Given the description of an element on the screen output the (x, y) to click on. 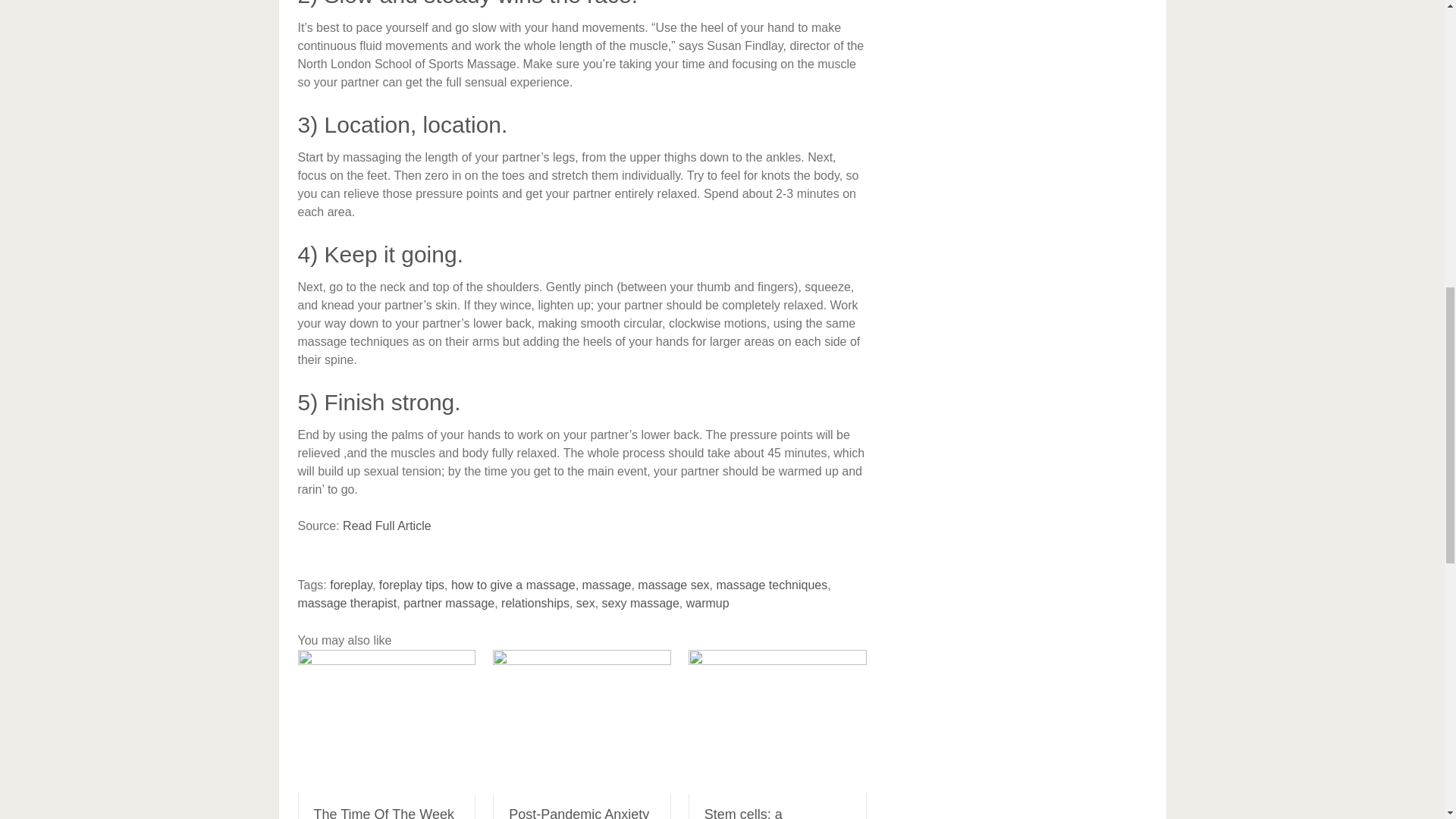
massage (606, 584)
Read Full Article (386, 525)
massage techniques (771, 584)
massage therapist (346, 603)
partner massage (449, 603)
massage sex (673, 584)
sexy massage (640, 603)
foreplay tips (411, 584)
